Given the description of an element on the screen output the (x, y) to click on. 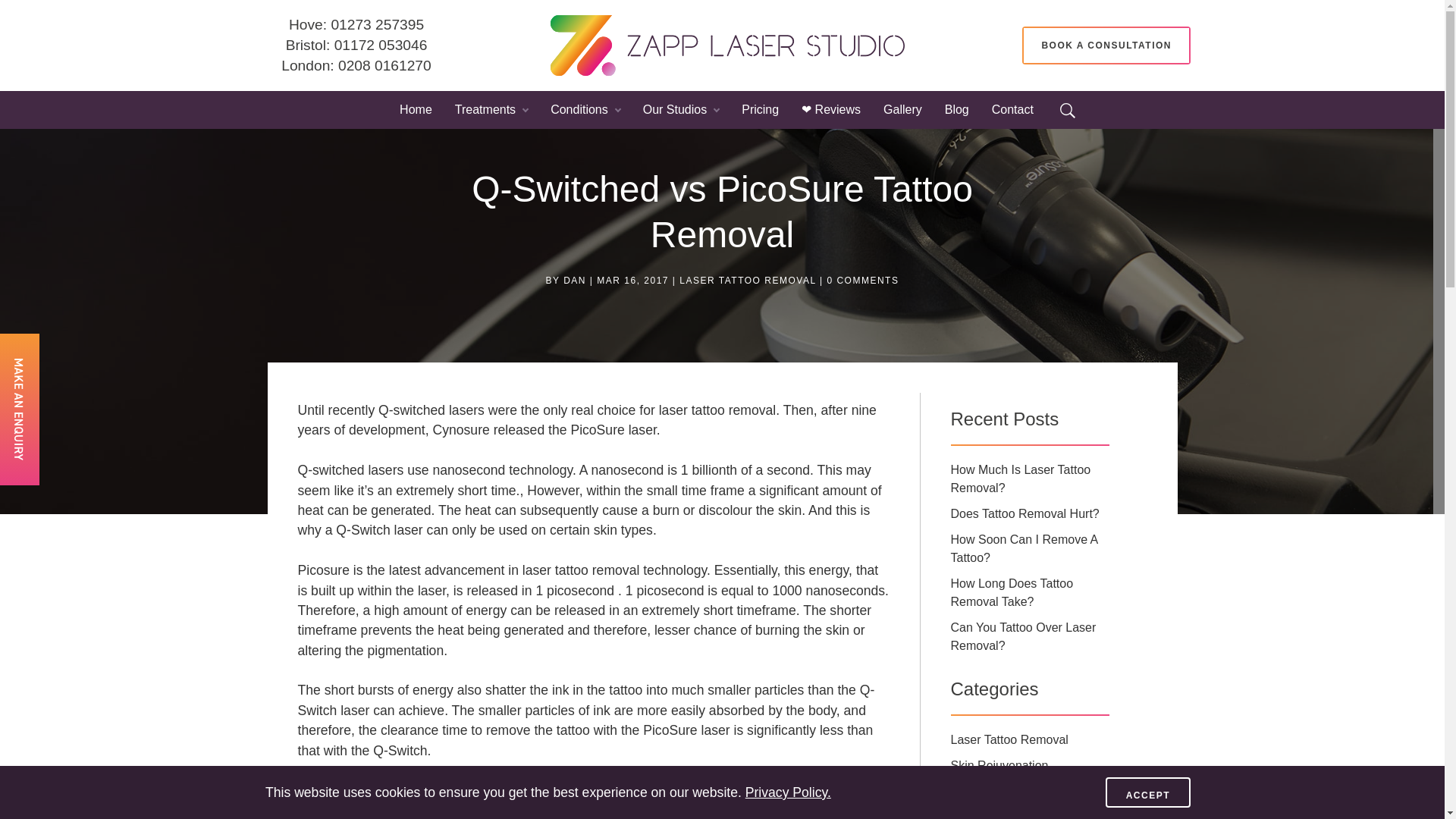
ACCEPT (1148, 792)
01273 257395 (376, 24)
01172 053046 (381, 44)
BOOK A CONSULTATION (1106, 45)
Conditions (585, 115)
Zapp Laser Studio (727, 45)
Privacy Policy. (788, 792)
0208 0161270 (383, 64)
